Given the description of an element on the screen output the (x, y) to click on. 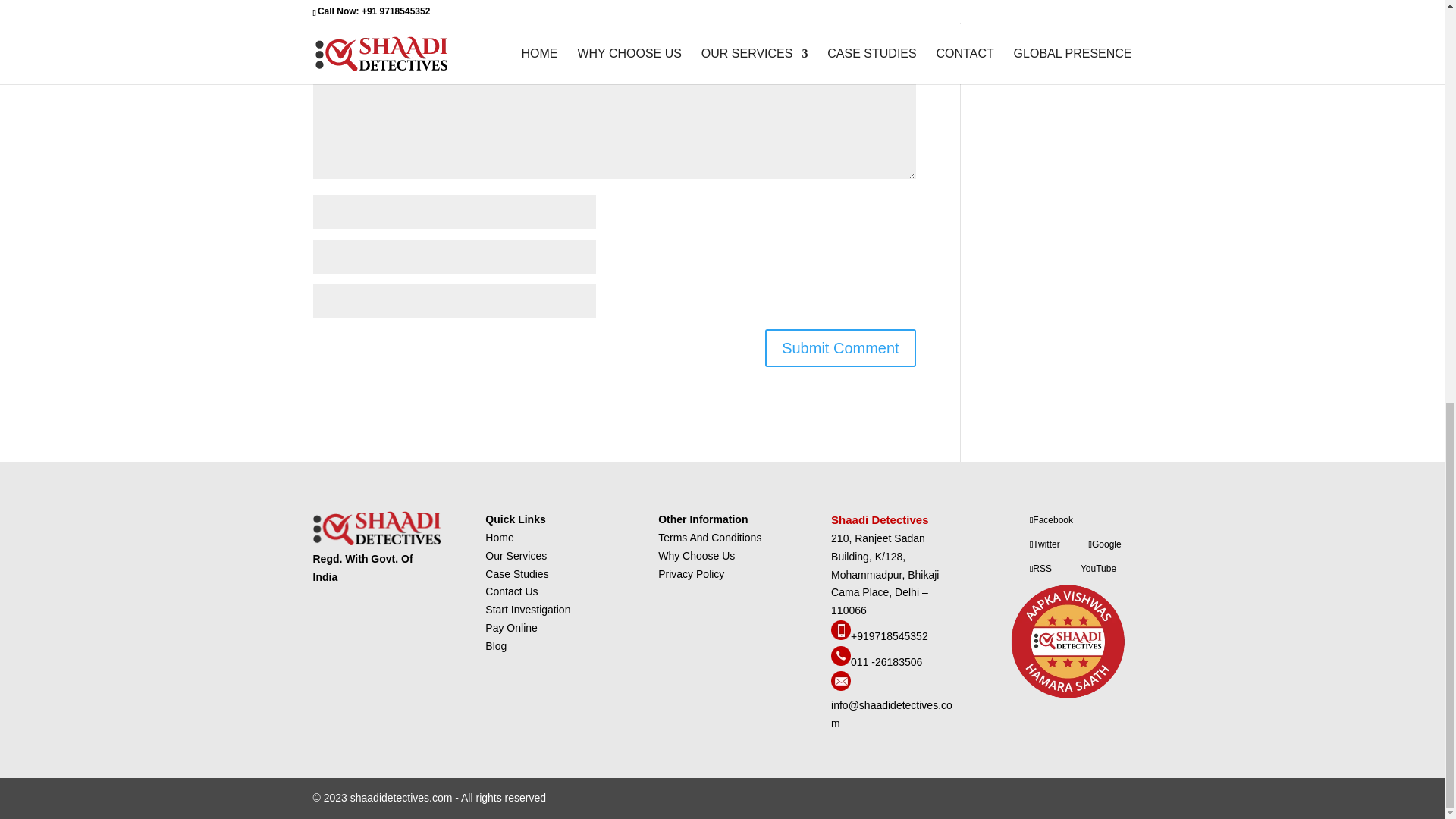
Contact (510, 591)
Case Studies (516, 573)
Start Investigation (527, 609)
011-26183506 (840, 662)
email (840, 686)
Contact (510, 627)
1800 3000 7005 (840, 635)
email (891, 714)
Submit Comment (840, 347)
Shaadi Detectives (881, 519)
Submit Comment (840, 347)
1800 3000 7005 (889, 635)
Our Services (515, 555)
011-41618585 (885, 662)
Home (498, 537)
